Given the description of an element on the screen output the (x, y) to click on. 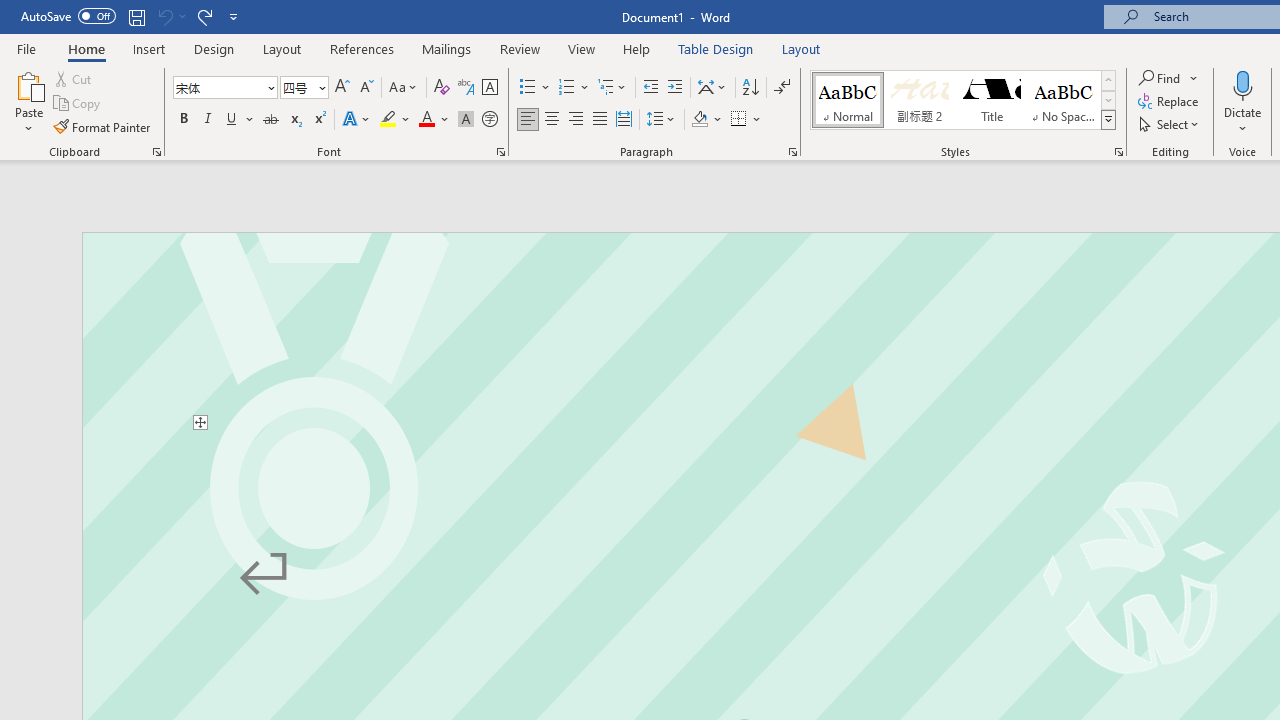
Font (224, 87)
Center (552, 119)
Strikethrough (270, 119)
Styles... (1118, 151)
AutomationID: QuickStylesGallery (963, 99)
Sort... (750, 87)
AutoSave (68, 16)
Grow Font (342, 87)
Borders (746, 119)
Bold (183, 119)
Open (320, 87)
Title (991, 100)
Redo Text Fill Effect (204, 15)
View (582, 48)
